Given the description of an element on the screen output the (x, y) to click on. 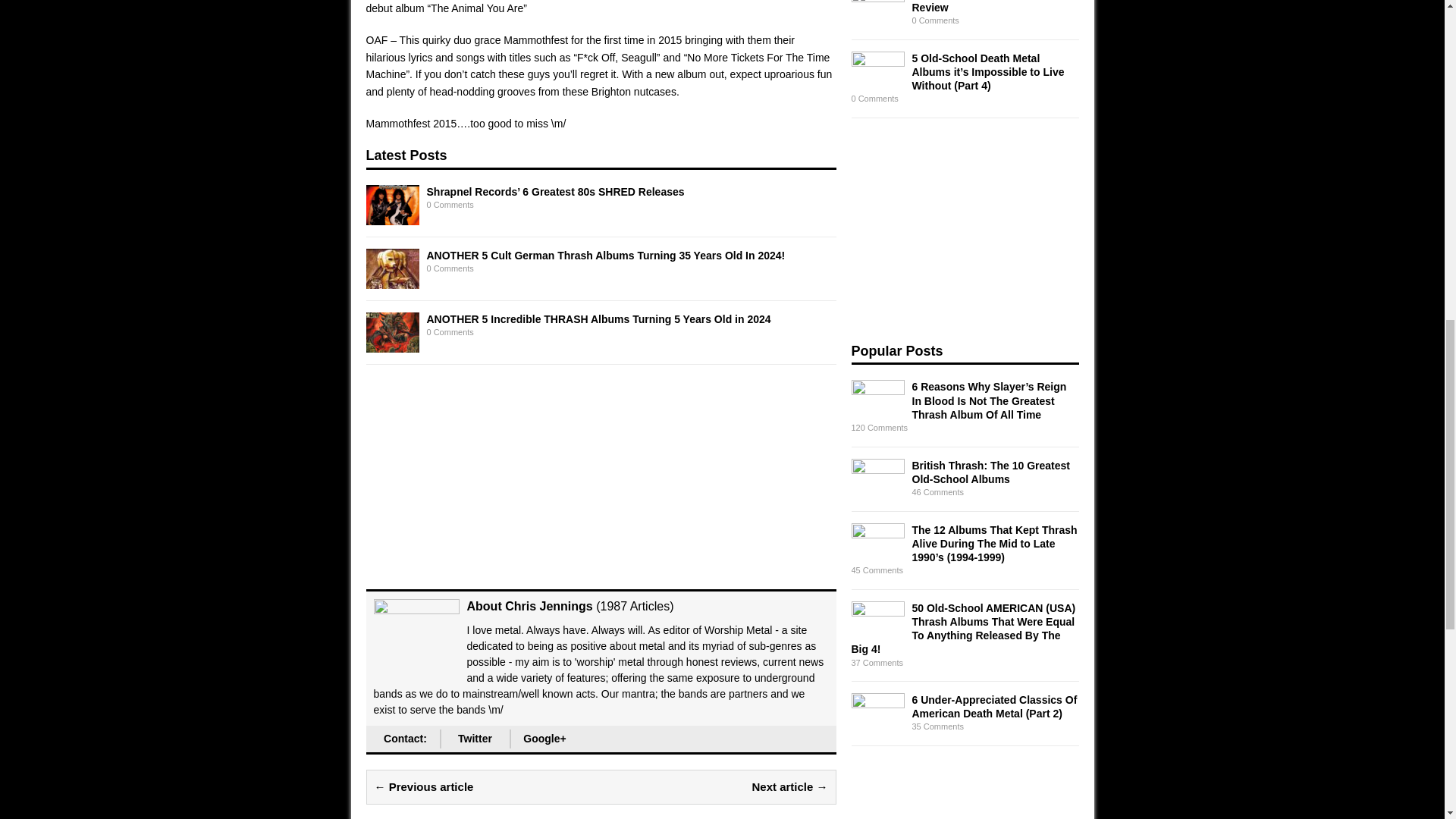
1987 Articles (634, 605)
Twitter (474, 738)
